Given the description of an element on the screen output the (x, y) to click on. 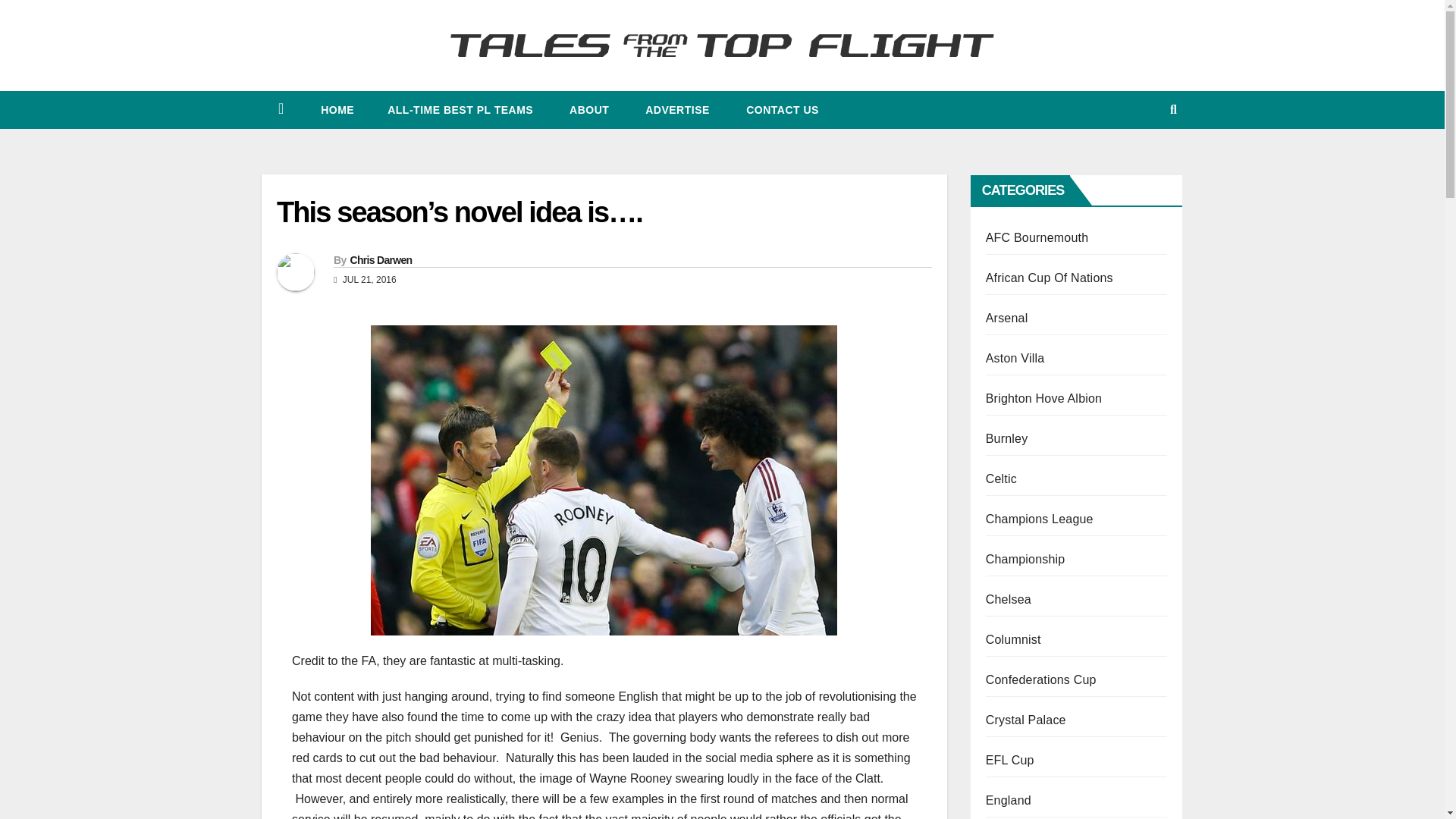
 CONTACT US (780, 109)
African Cup Of Nations (1049, 277)
Burnley (1006, 438)
Confederations Cup (1040, 679)
Crystal Palace (1025, 719)
Columnist (1013, 639)
All-Time Best PL Teams (460, 109)
Chelsea (1007, 599)
Championship (1025, 558)
 HOME (336, 109)
